Given the description of an element on the screen output the (x, y) to click on. 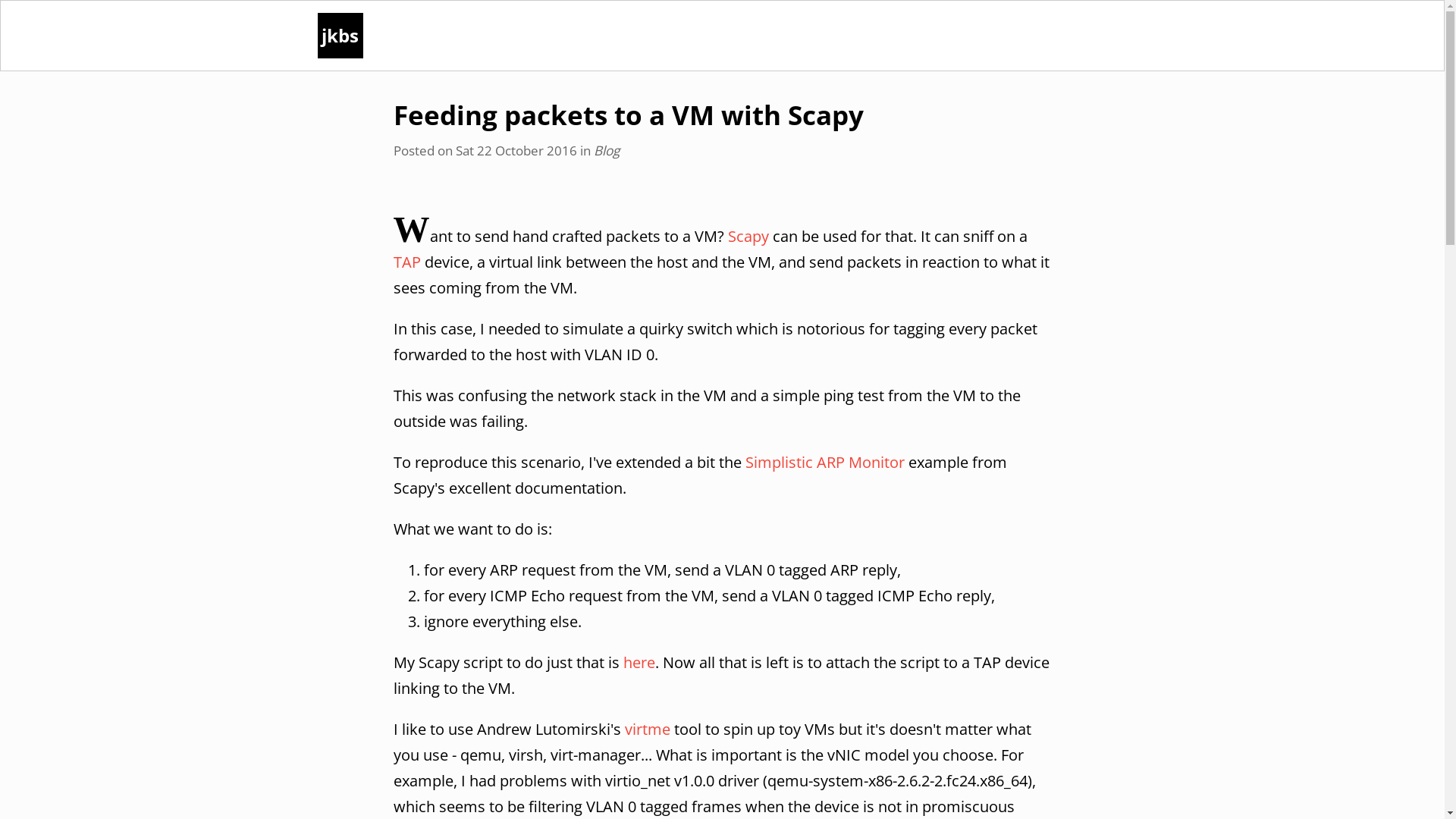
TAP Element type: text (406, 261)
here Element type: text (639, 662)
Simplistic ARP Monitor Element type: text (823, 461)
virtme Element type: text (647, 728)
Scapy Element type: text (748, 235)
jkbs Element type: text (339, 35)
Blog Element type: text (605, 150)
